Given the description of an element on the screen output the (x, y) to click on. 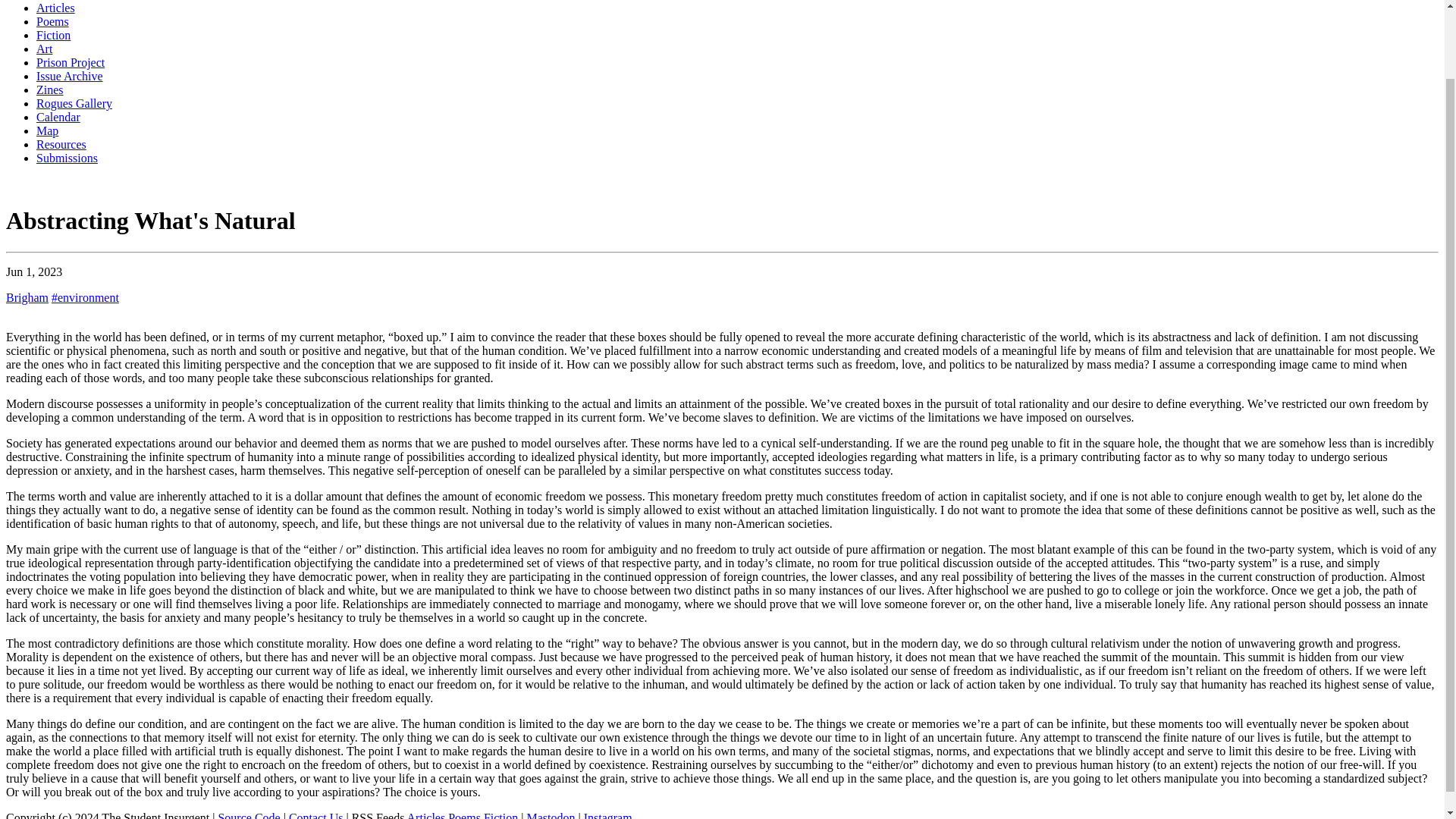
Fiction (52, 34)
Zines (50, 89)
Poems (52, 21)
Map (47, 130)
Brigham (26, 297)
Art (44, 48)
Calendar (58, 116)
Rogues Gallery (74, 103)
Resources (60, 144)
Submissions (66, 157)
